Given the description of an element on the screen output the (x, y) to click on. 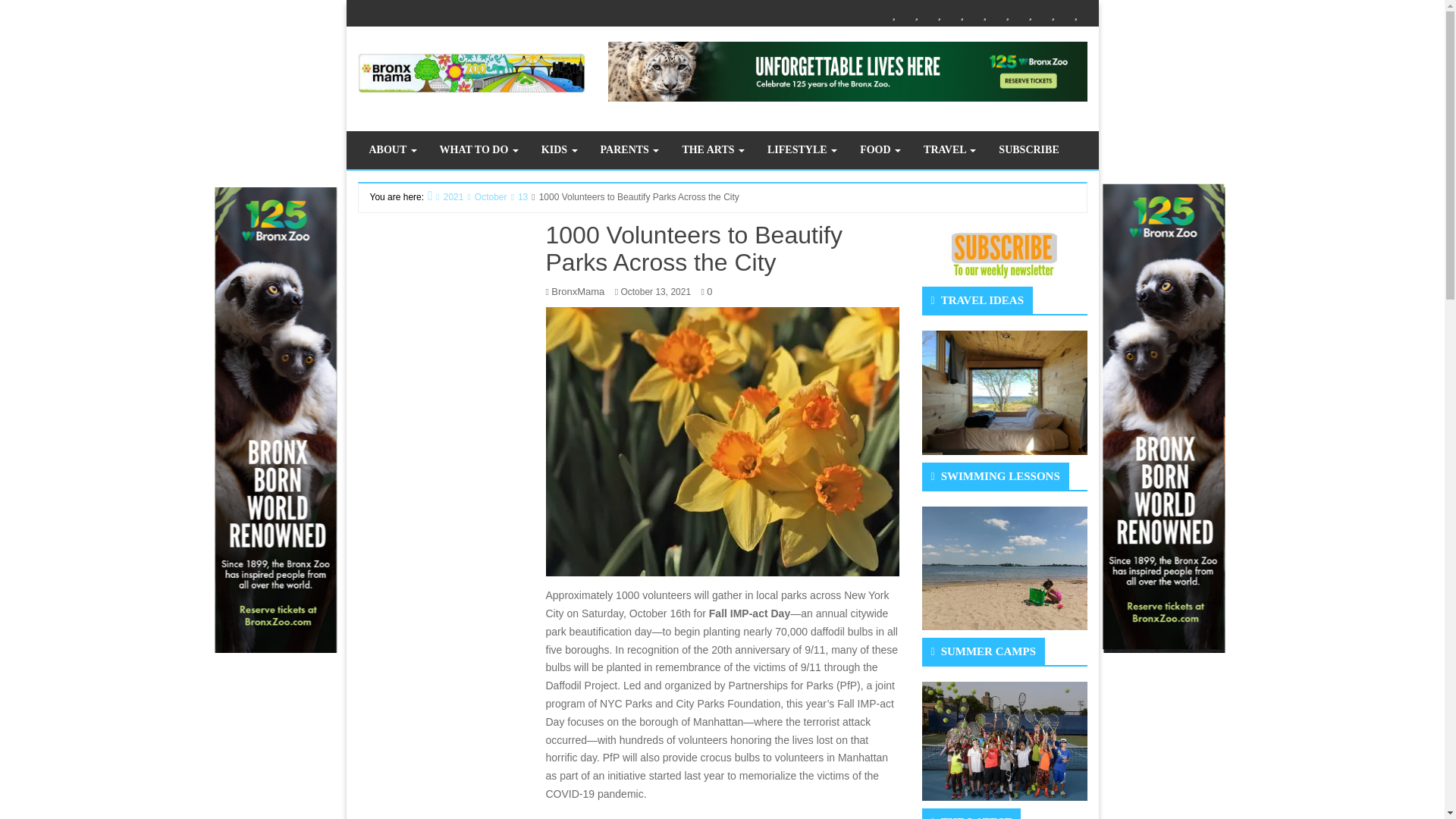
ABOUT (892, 13)
WHAT TO DO (478, 149)
LIFESTYLE (1006, 13)
SUBSCRIBE (1074, 13)
ABOUT (393, 149)
WHAT TO DO (915, 13)
KIDS (938, 13)
THE ARTS (983, 13)
WHAT TO DO (478, 149)
KIDS (559, 149)
TRAVEL (1052, 13)
PARENTS (961, 13)
FOOD (1029, 13)
ABOUT (393, 149)
